Given the description of an element on the screen output the (x, y) to click on. 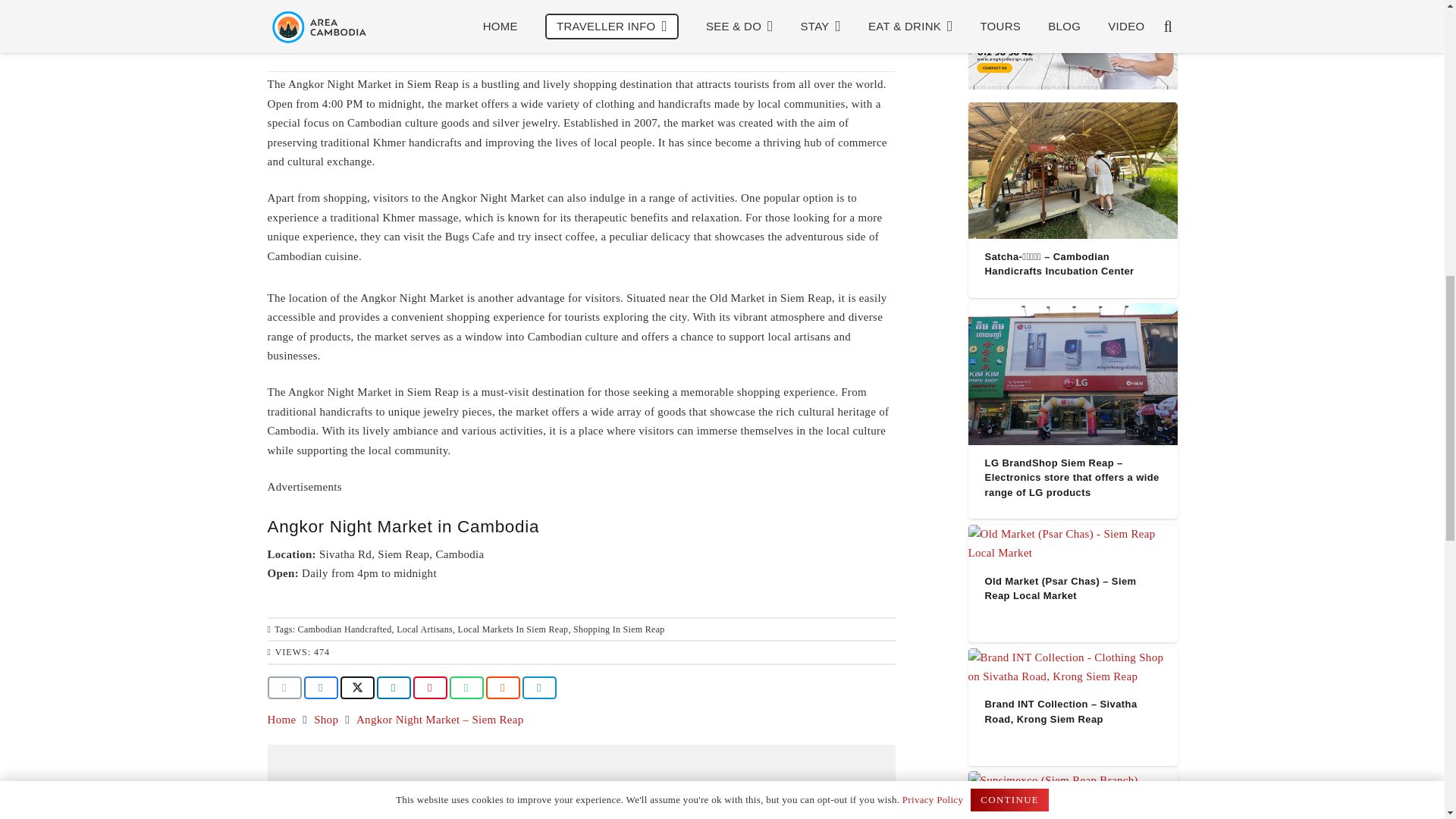
Share this (392, 687)
Email this (283, 687)
Share this (465, 687)
Pin this (429, 687)
Tweet this (356, 687)
Share this (501, 687)
Share this (538, 687)
Share this (319, 687)
